Given the description of an element on the screen output the (x, y) to click on. 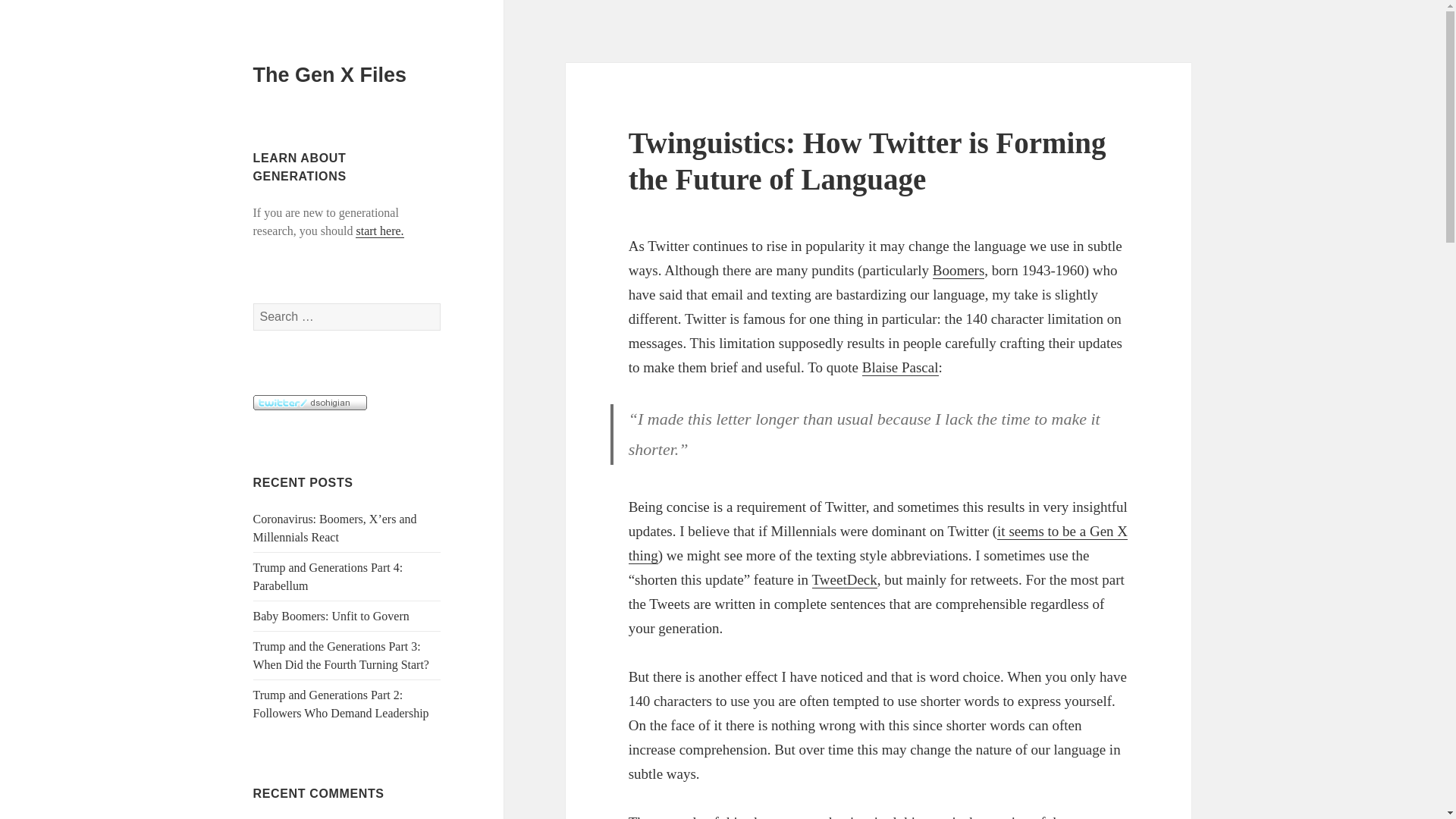
start here. (379, 231)
Baby Boomers: Unfit to Govern (331, 615)
The Gen X Files (330, 74)
Trump and Generations Part 4: Parabellum (328, 576)
